Given the description of an element on the screen output the (x, y) to click on. 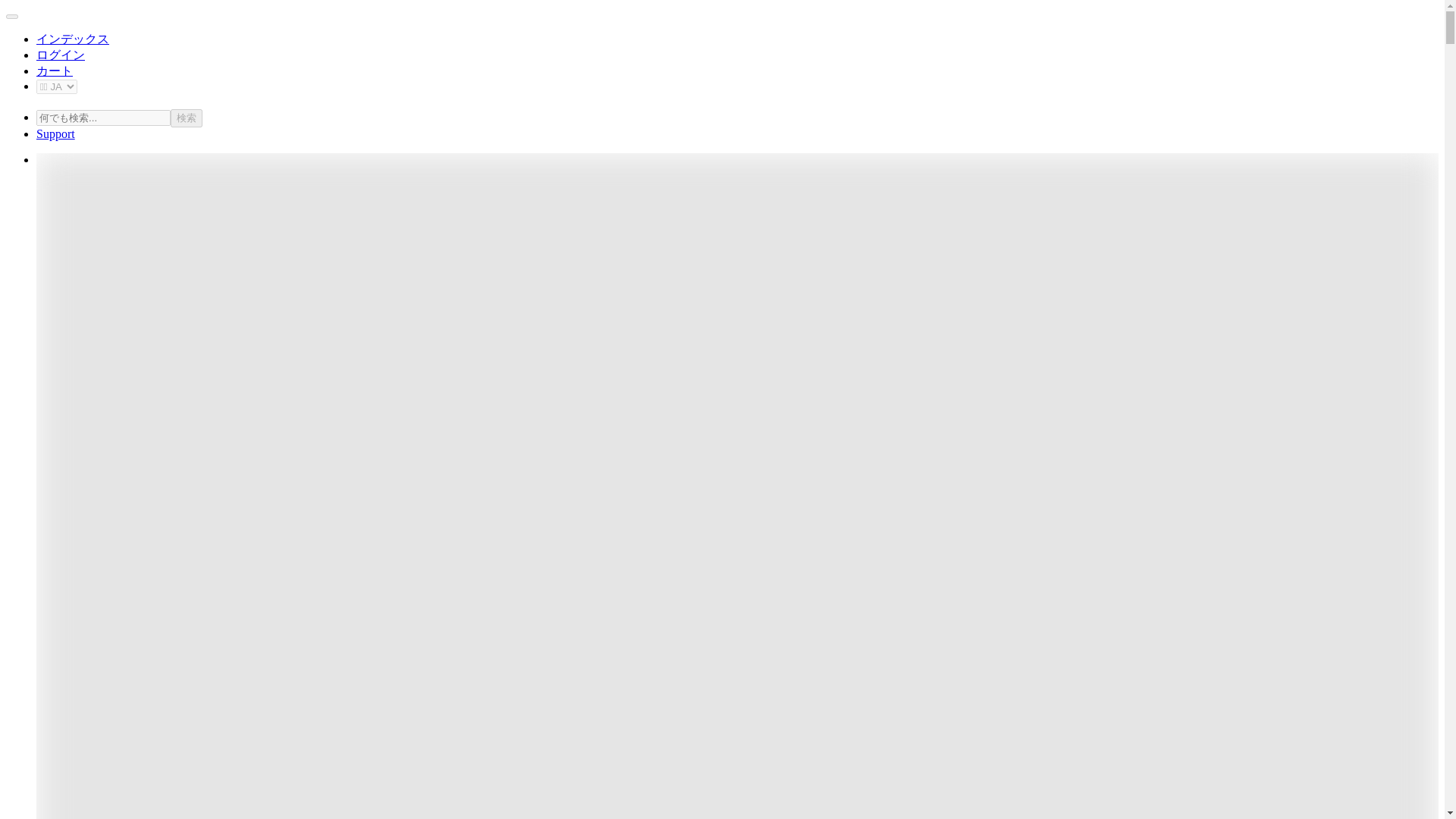
Support (55, 133)
